Given the description of an element on the screen output the (x, y) to click on. 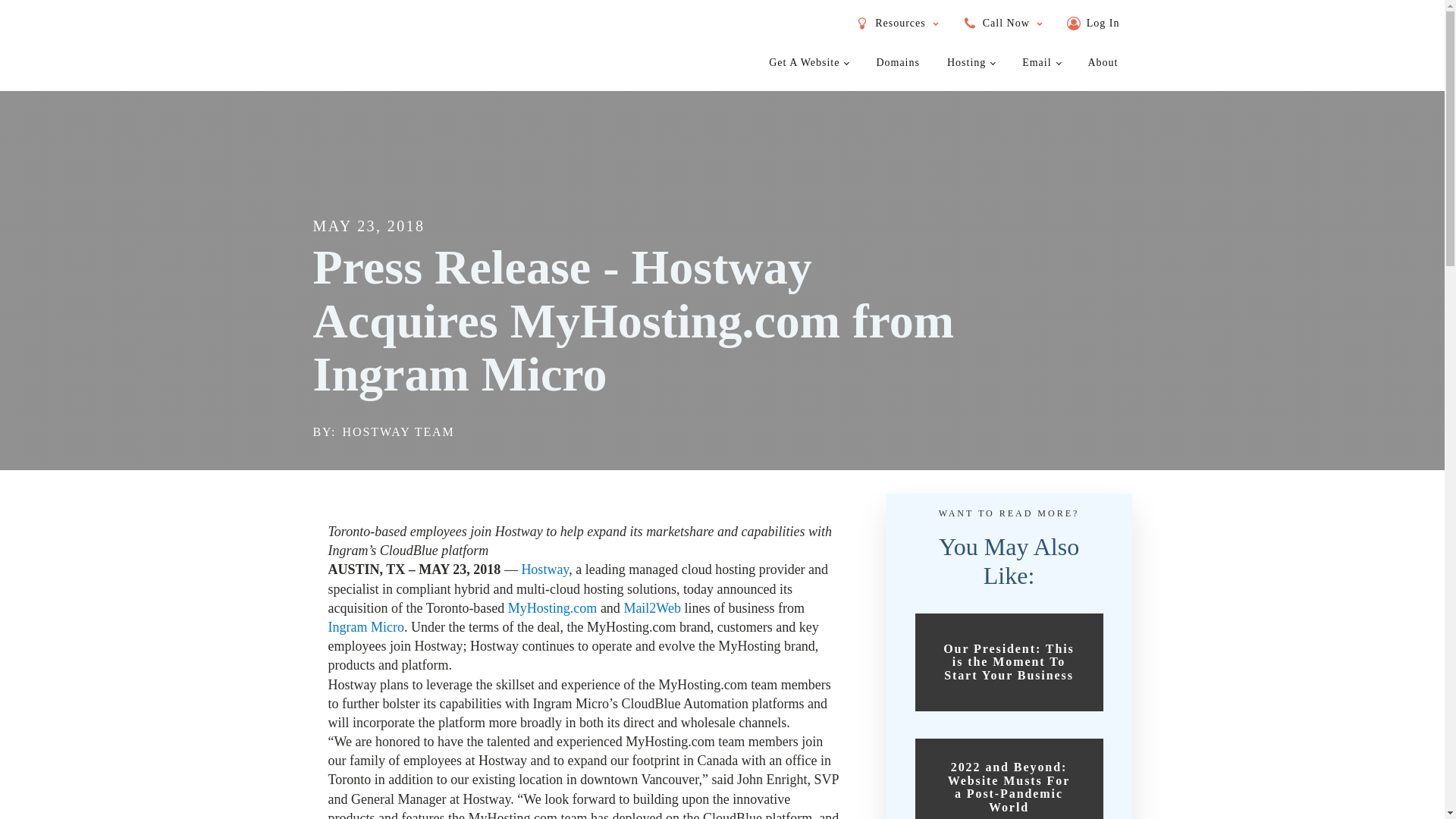
Log In (1093, 22)
Email (1041, 62)
Hosting (971, 62)
Get A Website (808, 62)
Domains (897, 62)
About (1102, 62)
